Given the description of an element on the screen output the (x, y) to click on. 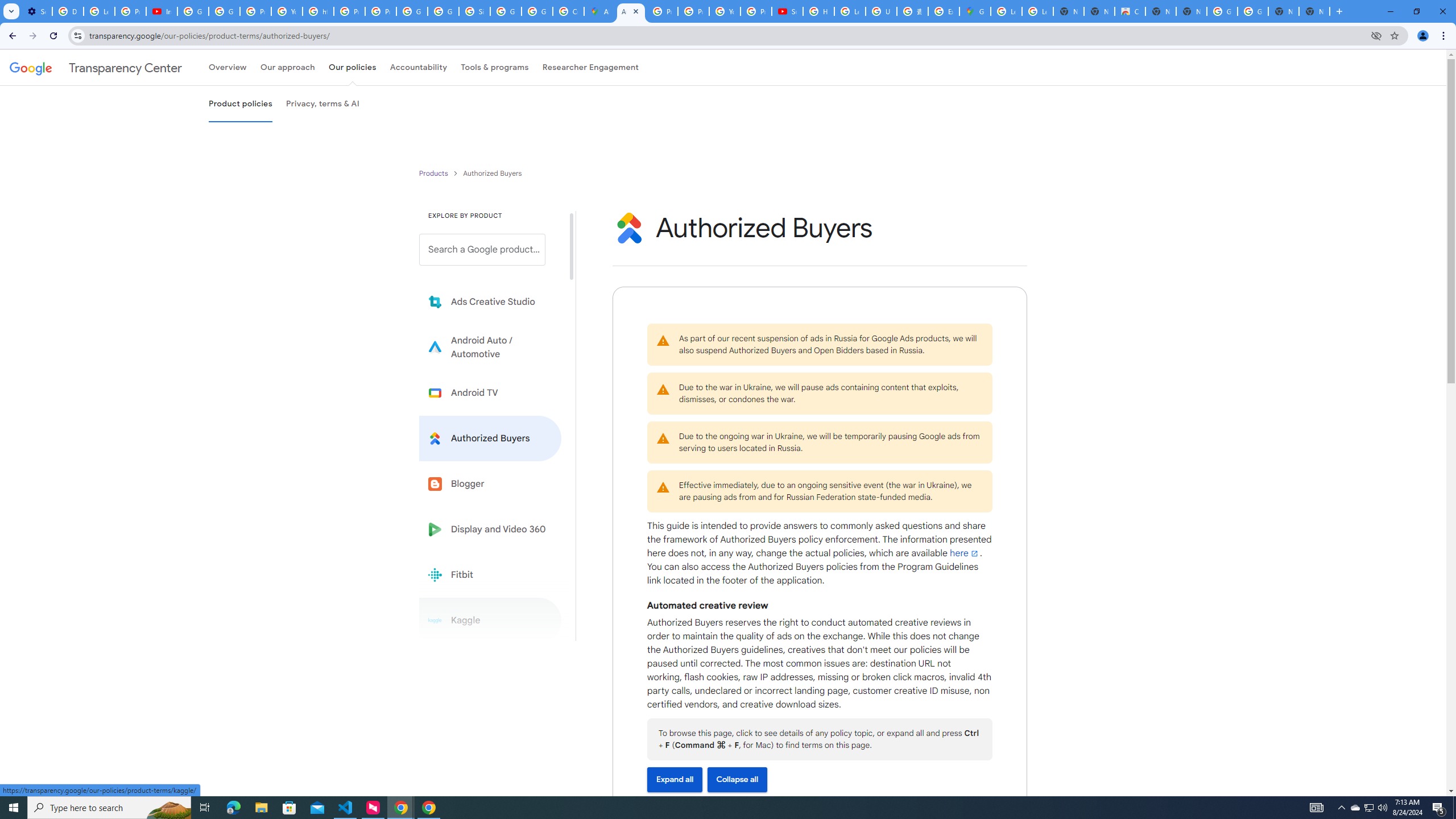
Display and Video 360 (490, 529)
Google Images (1222, 11)
Tools & programs (494, 67)
Learn more about Ads Creative Studio (490, 302)
Sign in - Google Accounts (474, 11)
